Given the description of an element on the screen output the (x, y) to click on. 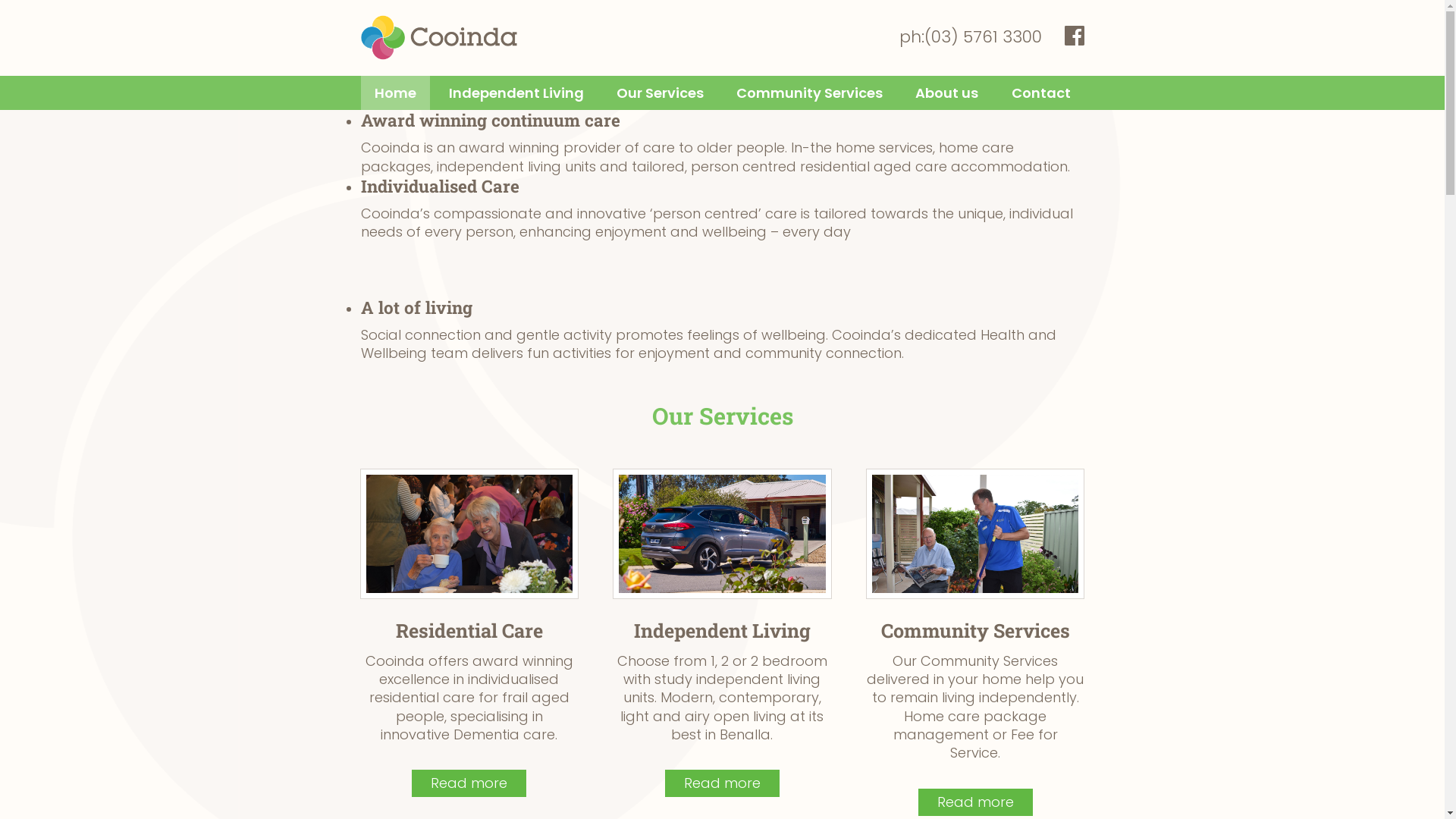
About us Element type: text (946, 92)
Our Services Element type: text (659, 92)
Read more Element type: text (975, 801)
Home Element type: text (394, 92)
Read more Element type: text (468, 533)
Contact Element type: text (1040, 92)
Read more Element type: text (468, 783)
Community Services Element type: text (809, 92)
Cooinda - Back to the Home page Element type: hover (438, 37)
Independent Living Element type: text (516, 92)
Read more Element type: text (974, 533)
Read more Element type: text (722, 783)
Follow us on Facebook Element type: hover (1074, 35)
Read more Element type: text (721, 533)
ph:(03) 5761 3300 Element type: text (970, 37)
